Given the description of an element on the screen output the (x, y) to click on. 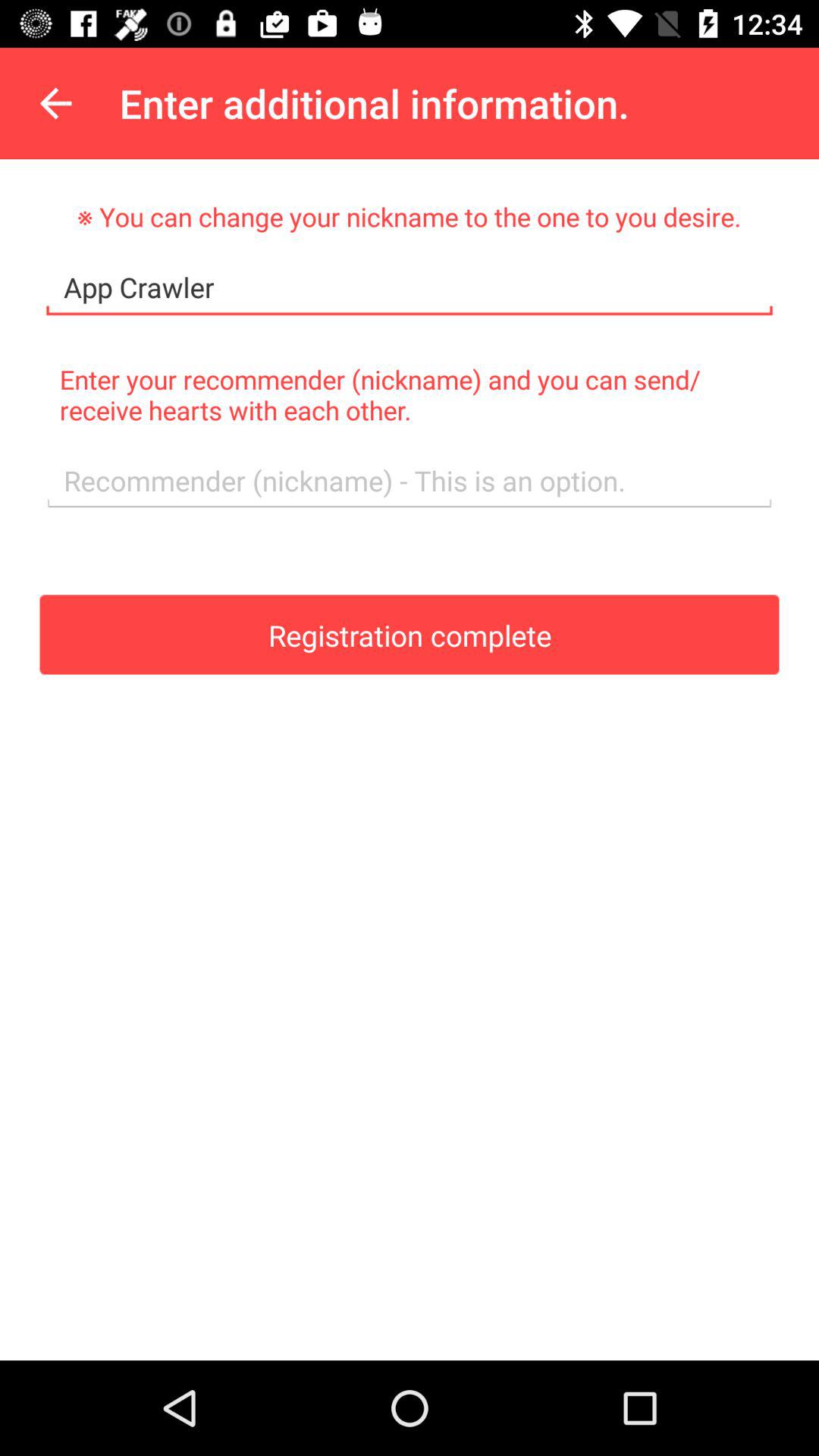
scroll until the app crawler item (409, 287)
